Given the description of an element on the screen output the (x, y) to click on. 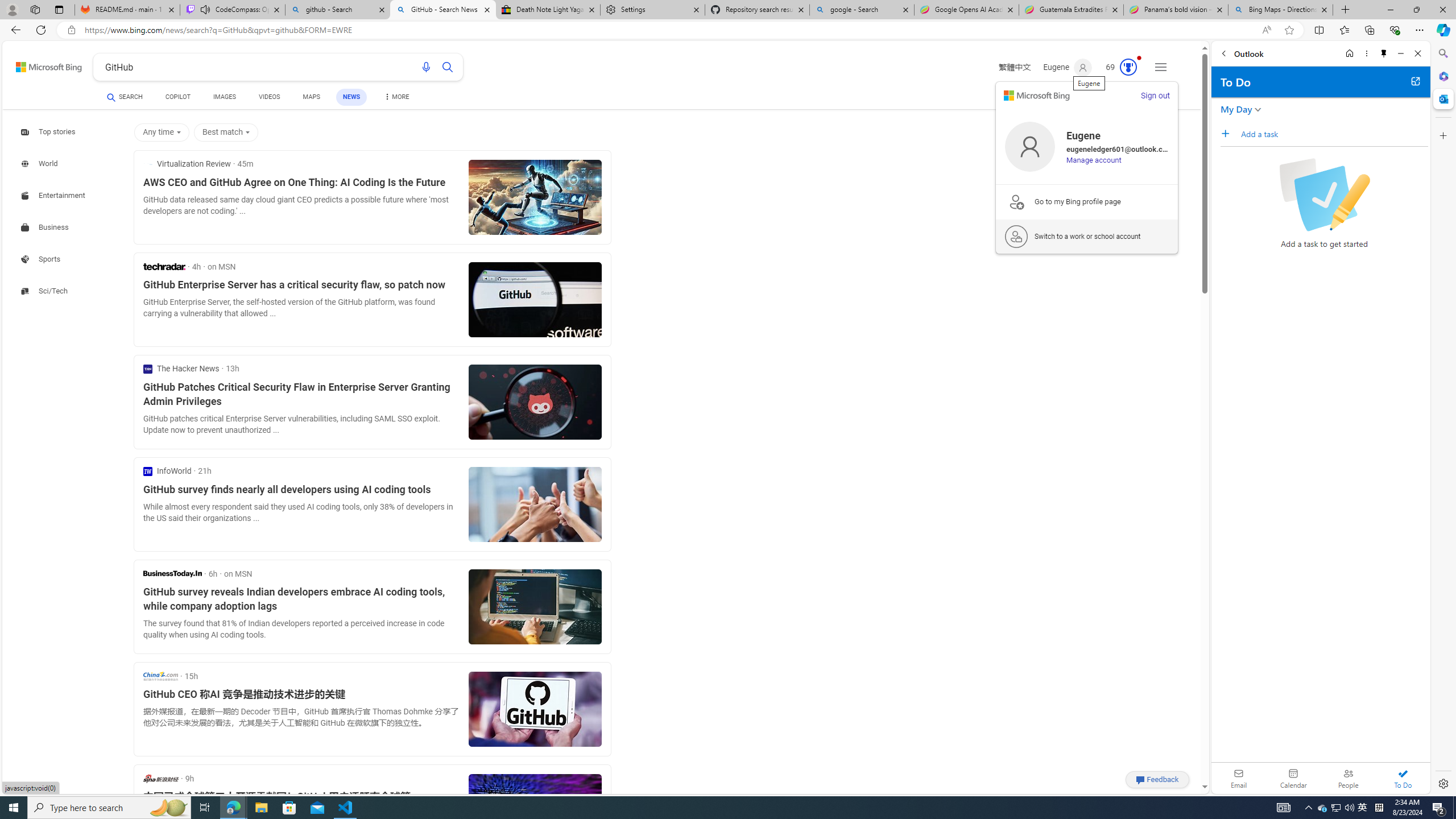
AutomationID: serp_medal_svg (1128, 67)
Animation (1139, 57)
Settings and quick links (1160, 67)
Best match (225, 132)
Sign out (1155, 95)
Google Opens AI Academy for Startups - Nearshore Americas (966, 9)
Any time (161, 132)
Profile Picture (1029, 146)
